Given the description of an element on the screen output the (x, y) to click on. 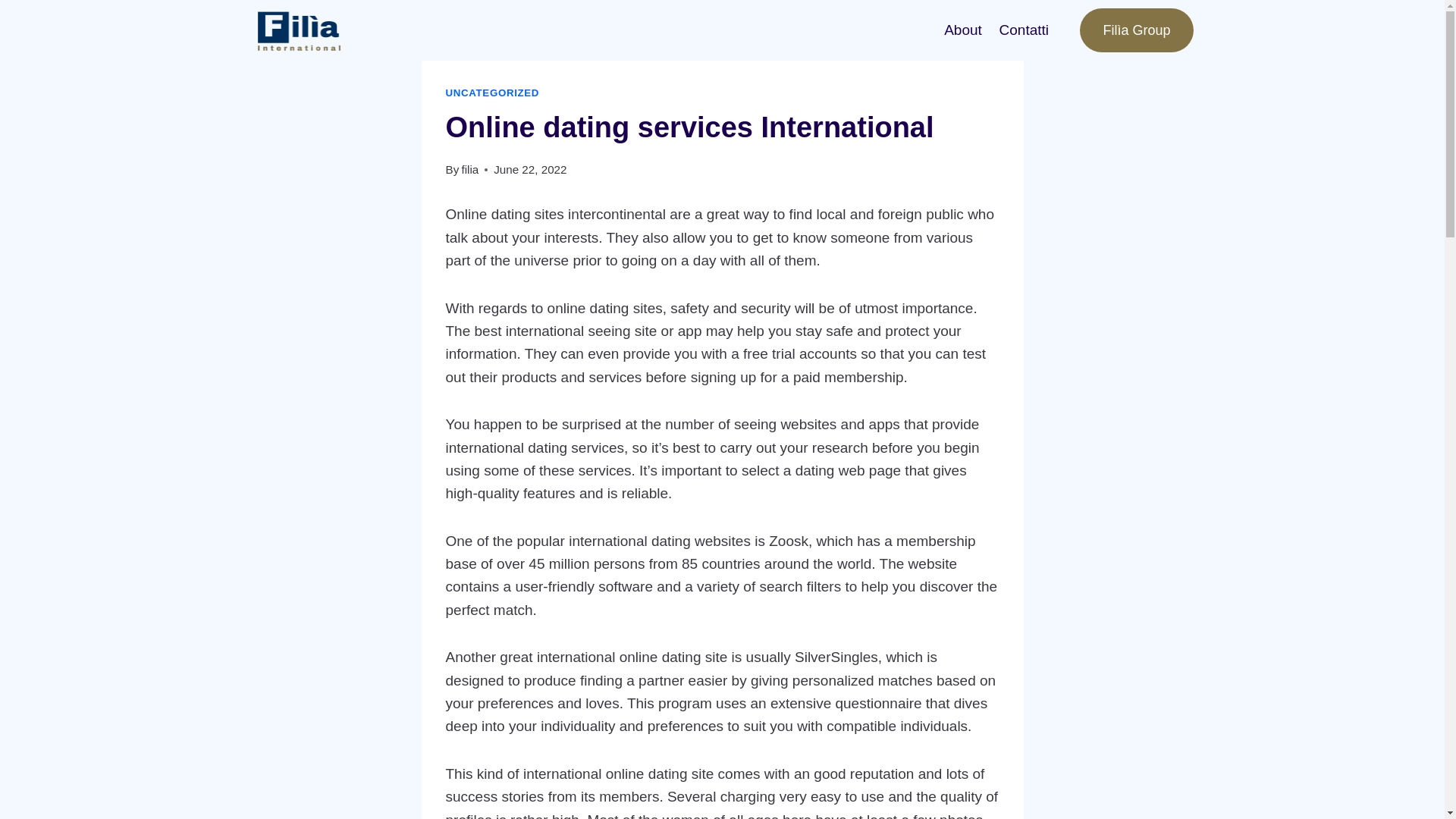
About (963, 29)
Contatti (1023, 29)
UNCATEGORIZED (492, 92)
filia (470, 169)
